Given the description of an element on the screen output the (x, y) to click on. 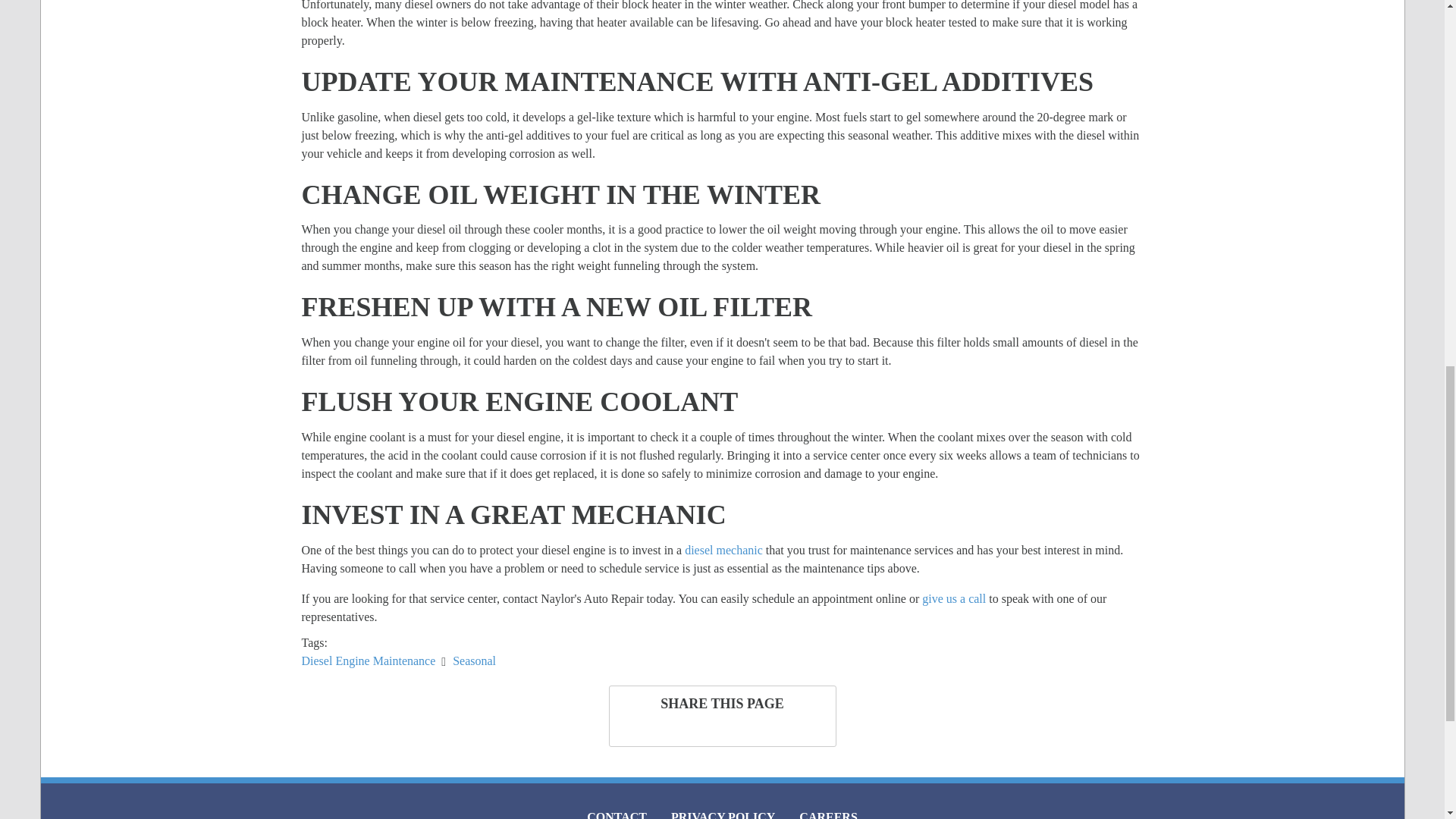
Facebook (649, 729)
PRIVACY POLICY (723, 808)
Pinterest (754, 729)
linkedin (719, 729)
give us a call (953, 598)
Twitter (681, 729)
Seasonal (474, 660)
CAREERS (828, 808)
diesel mechanic (724, 549)
CONTACT (617, 808)
